Given the description of an element on the screen output the (x, y) to click on. 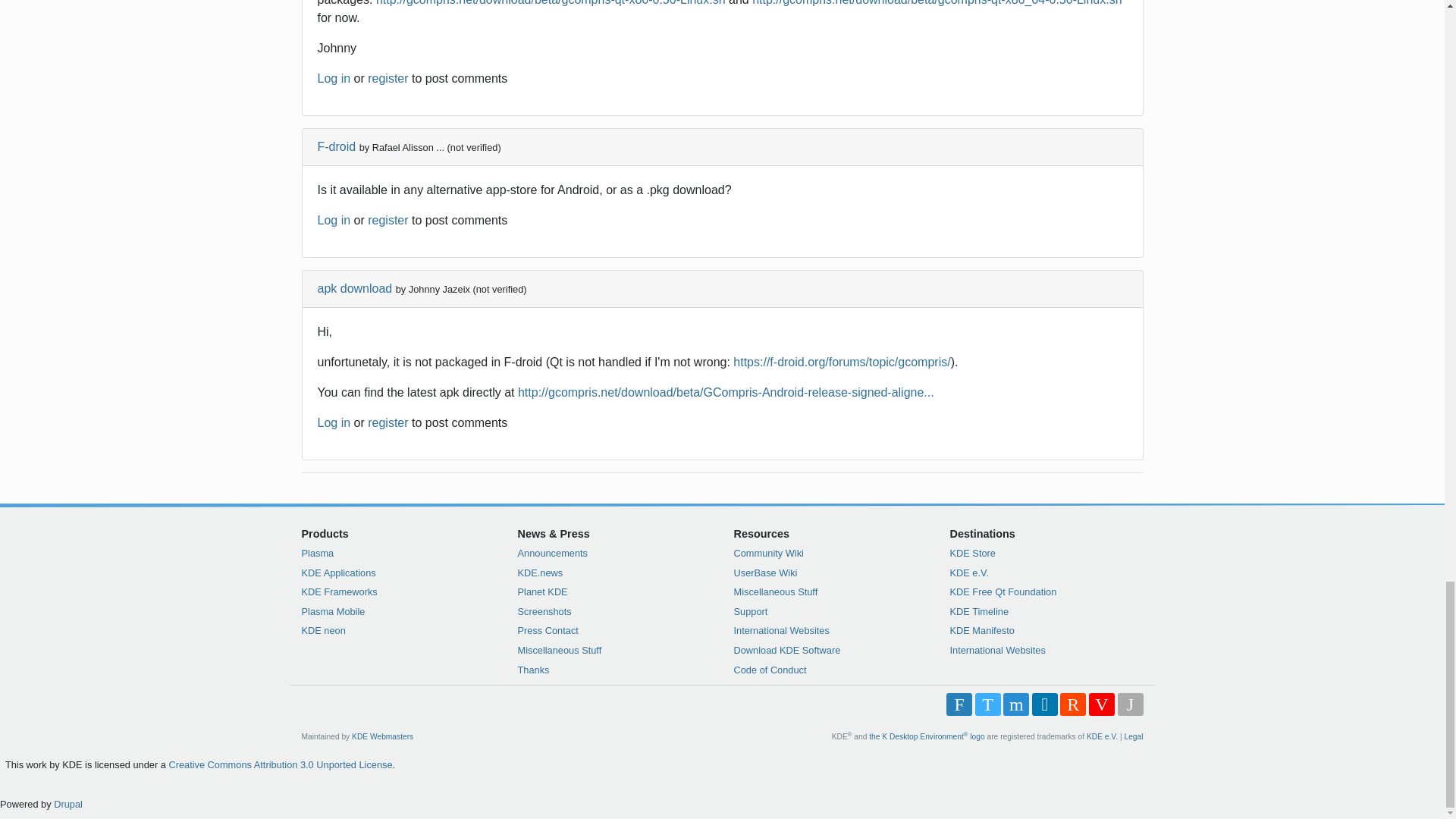
Log in (333, 219)
register (387, 219)
Log in (333, 78)
Homepage of the KDE non-profit Organization (1102, 736)
F-droid (336, 146)
register (387, 78)
